Given the description of an element on the screen output the (x, y) to click on. 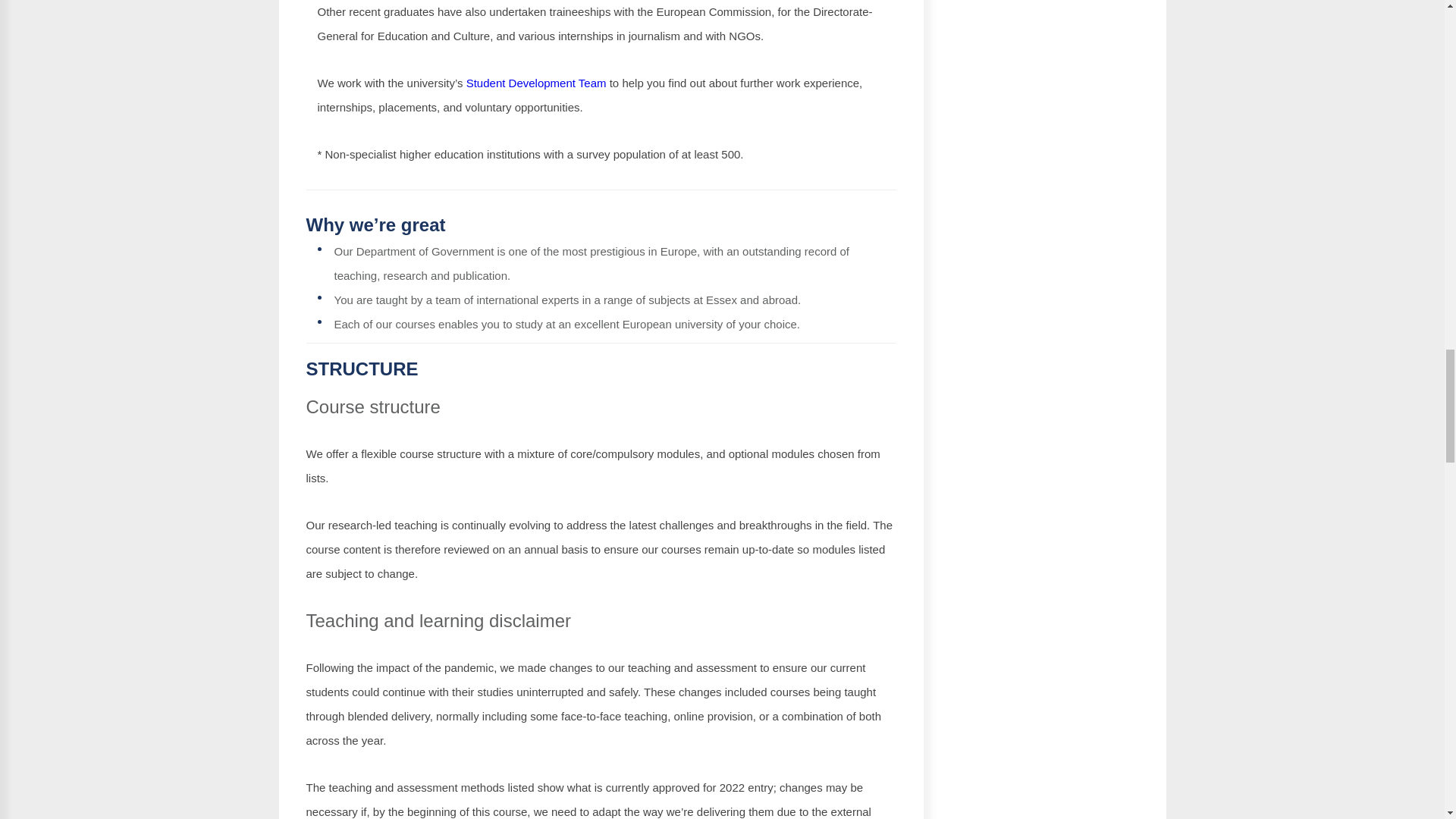
Student Development Team (536, 82)
